Given the description of an element on the screen output the (x, y) to click on. 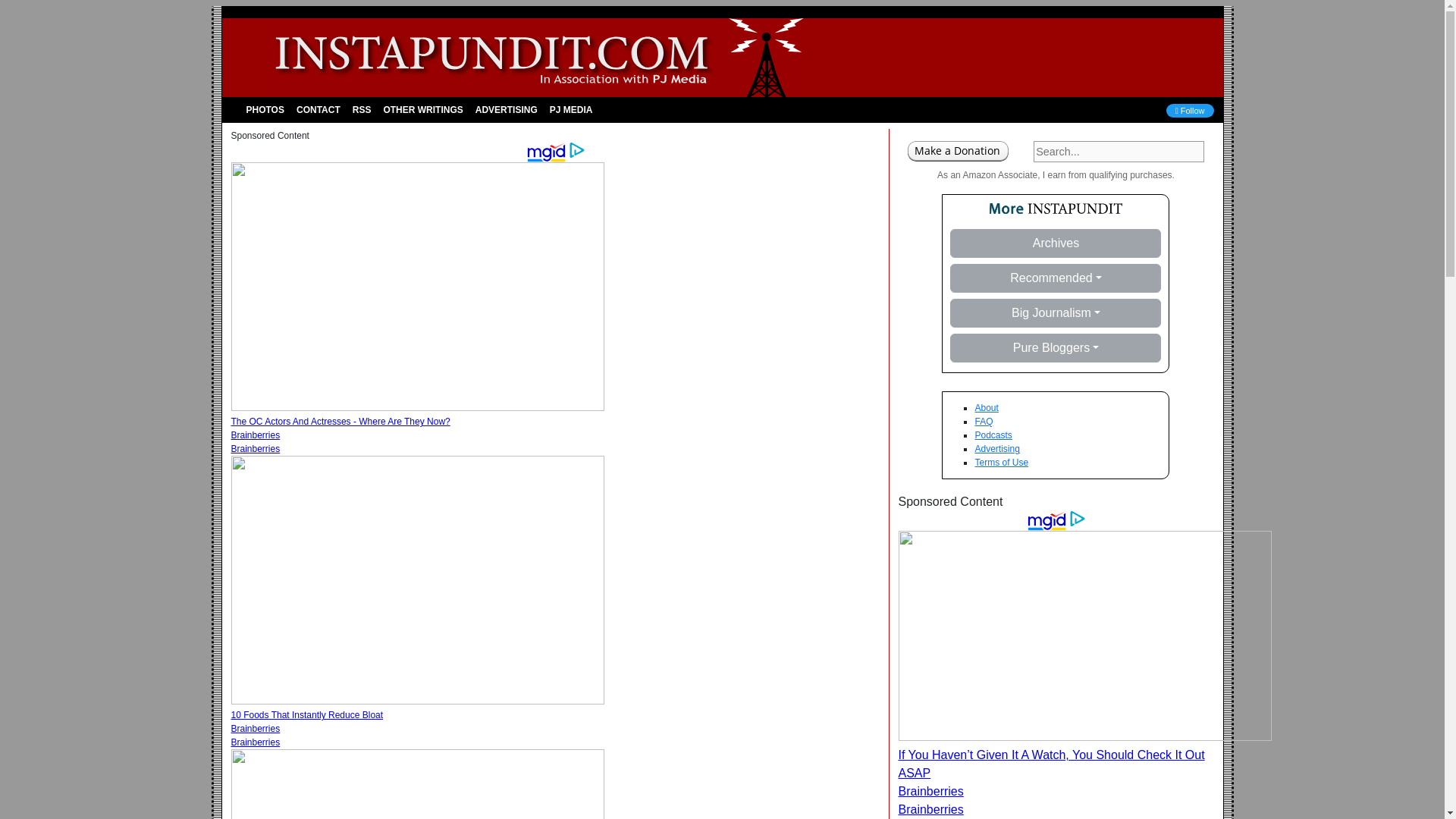
Photos (264, 109)
RSS (361, 109)
Contact (317, 109)
Archives (1055, 243)
PHOTOS (264, 109)
CONTACT (317, 109)
PJ MEDIA (570, 109)
Other Writings (422, 109)
ADVERTISING (505, 109)
OTHER WRITINGS (422, 109)
